Given the description of an element on the screen output the (x, y) to click on. 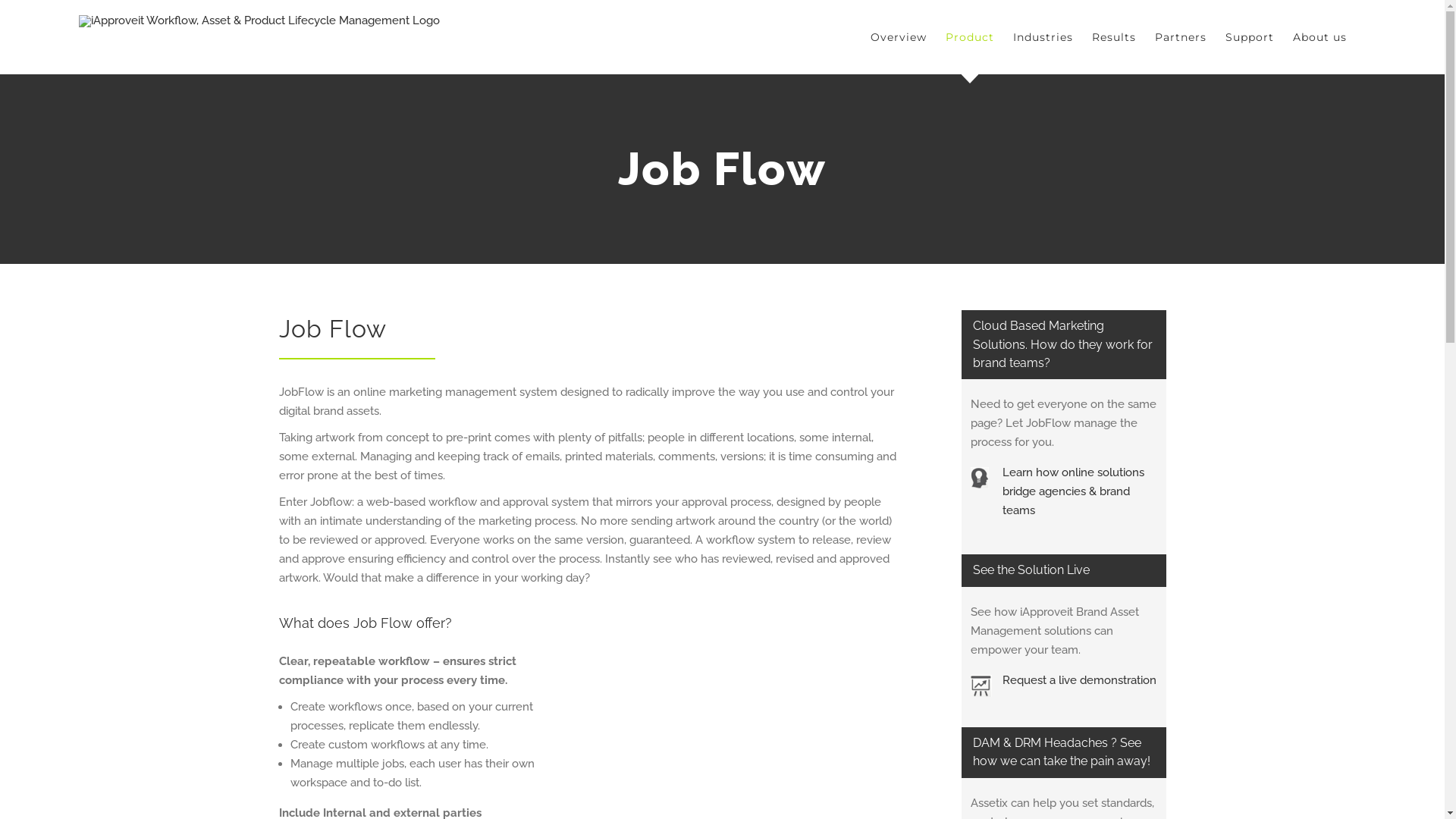
Overview Element type: text (898, 37)
Support Element type: text (1249, 37)
Partners Element type: text (1180, 37)
Learn how online solutions bridge agencies & brand teams Element type: text (1073, 491)
Industries Element type: text (1043, 37)
Results Element type: text (1113, 37)
About us Element type: text (1319, 37)
Product Element type: text (969, 37)
Request a live demonstration Element type: text (1079, 680)
